Given the description of an element on the screen output the (x, y) to click on. 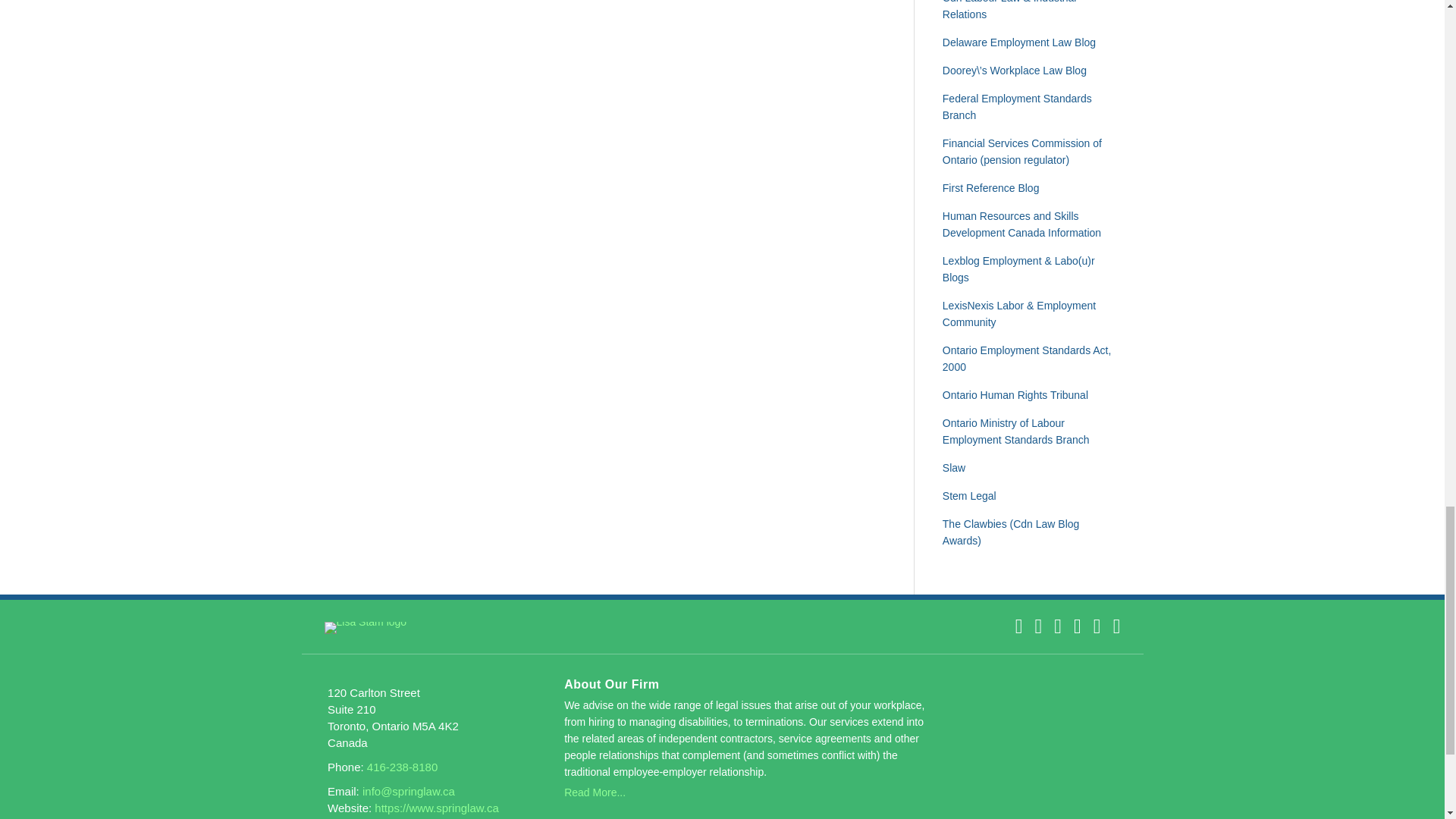
stem-legal (968, 495)
federal-employment-standards-branch (1017, 106)
ontario-human-rights-tribunal (1014, 395)
ontario-employment-standards-act-2000 (1027, 358)
financial-services-commission-of-ontario-pension-regulator (1022, 151)
delaware-employment-law-blog (1019, 42)
lexisnexis-labor-employment-community (1019, 313)
slaw (953, 467)
ontario-ministry-of-labour-employment-standards-branch (1015, 430)
human-resources-and-skills-development-canada-information (1021, 224)
the-clawbies-cdn-law-blog-awards (1011, 532)
lexblog-employment-labour-blogs (1018, 268)
first-reference-blog (990, 187)
cdn-labour-law-industrial-relations (1009, 10)
dooreys-workplace-law-blog (1014, 70)
